Given the description of an element on the screen output the (x, y) to click on. 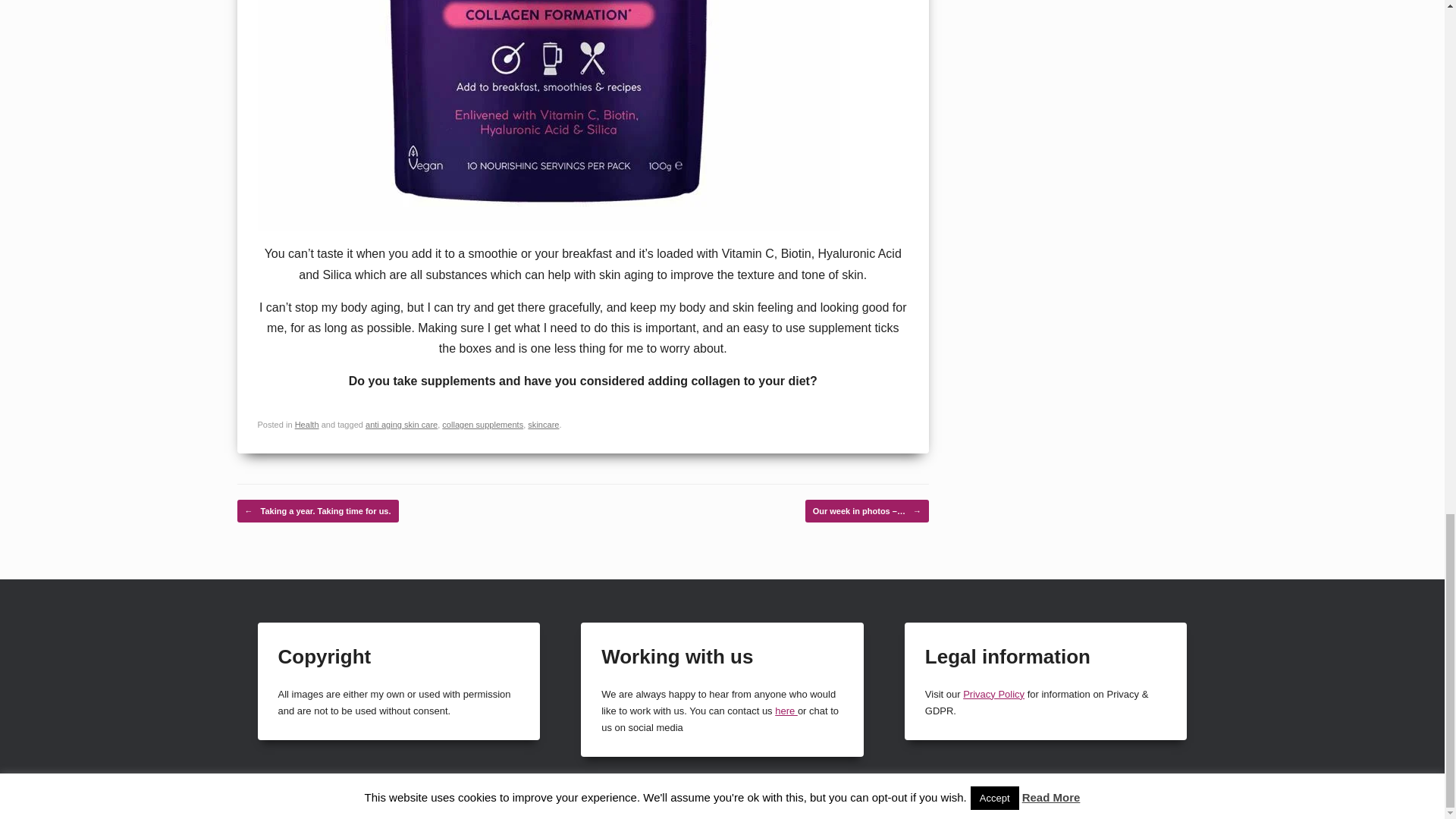
Health (306, 424)
here (785, 710)
Privacy Policy (993, 694)
Gillyfleur (1366, 804)
anti aging skin care (401, 424)
collagen supplements (482, 424)
skincare (543, 424)
